Given the description of an element on the screen output the (x, y) to click on. 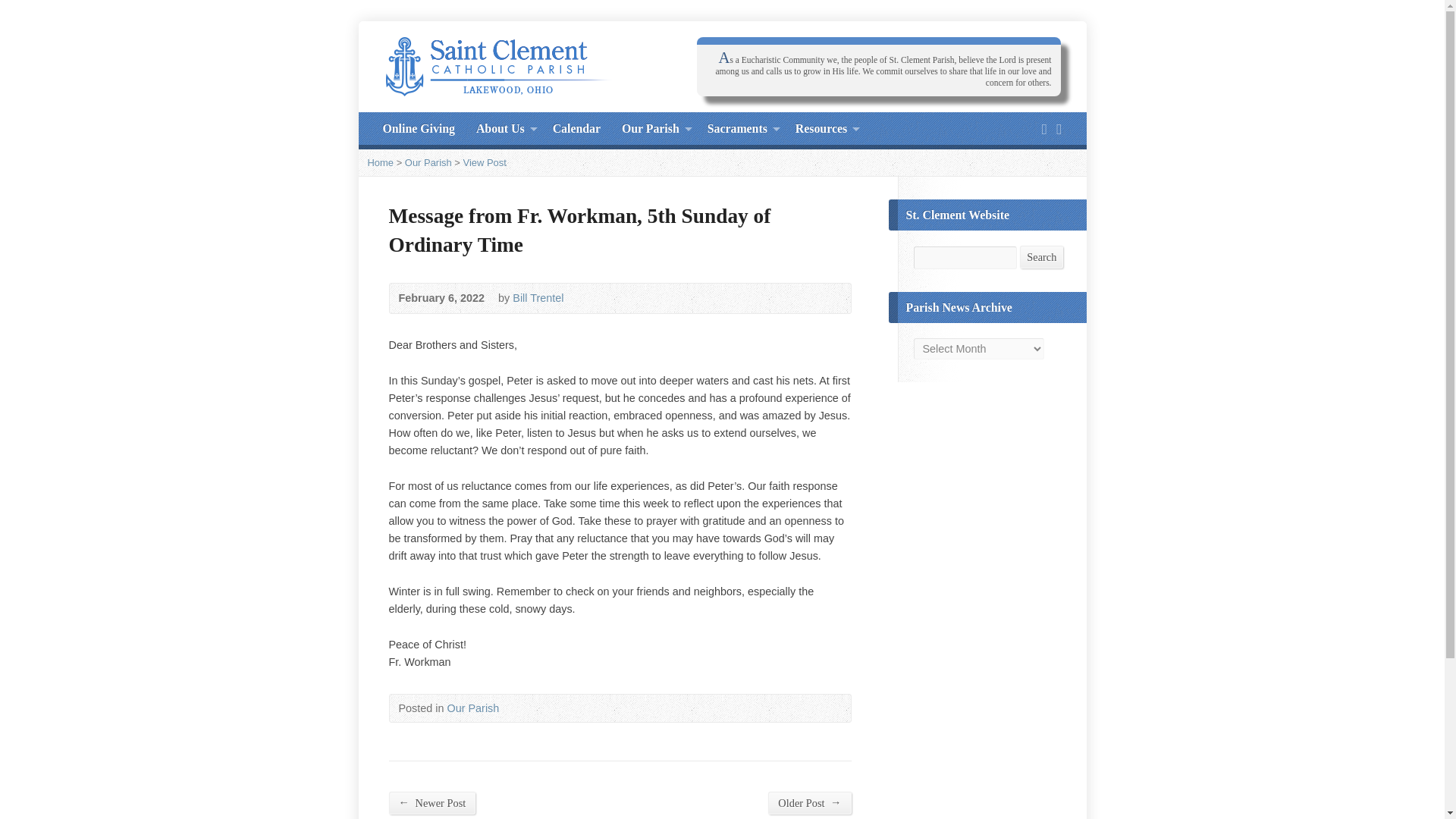
About Us (500, 128)
Calendar (576, 128)
Online Giving (417, 128)
Our Parish (650, 128)
